Given the description of an element on the screen output the (x, y) to click on. 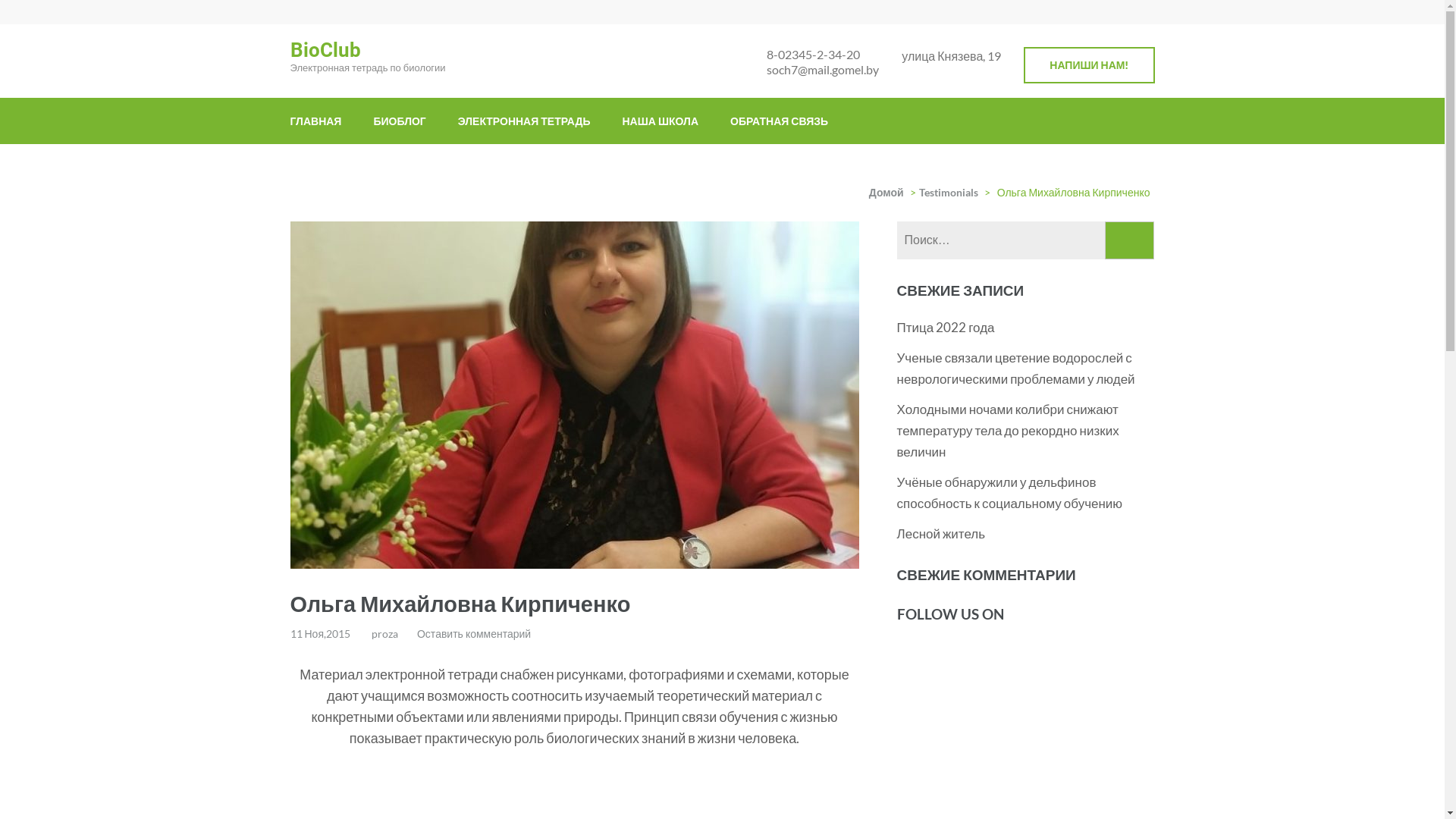
Testimonials Element type: text (948, 191)
8-02345-2-34-20 Element type: text (822, 54)
soch7@mail.gomel.by Element type: text (822, 69)
BioClub Element type: text (324, 49)
proza Element type: text (384, 632)
